Given the description of an element on the screen output the (x, y) to click on. 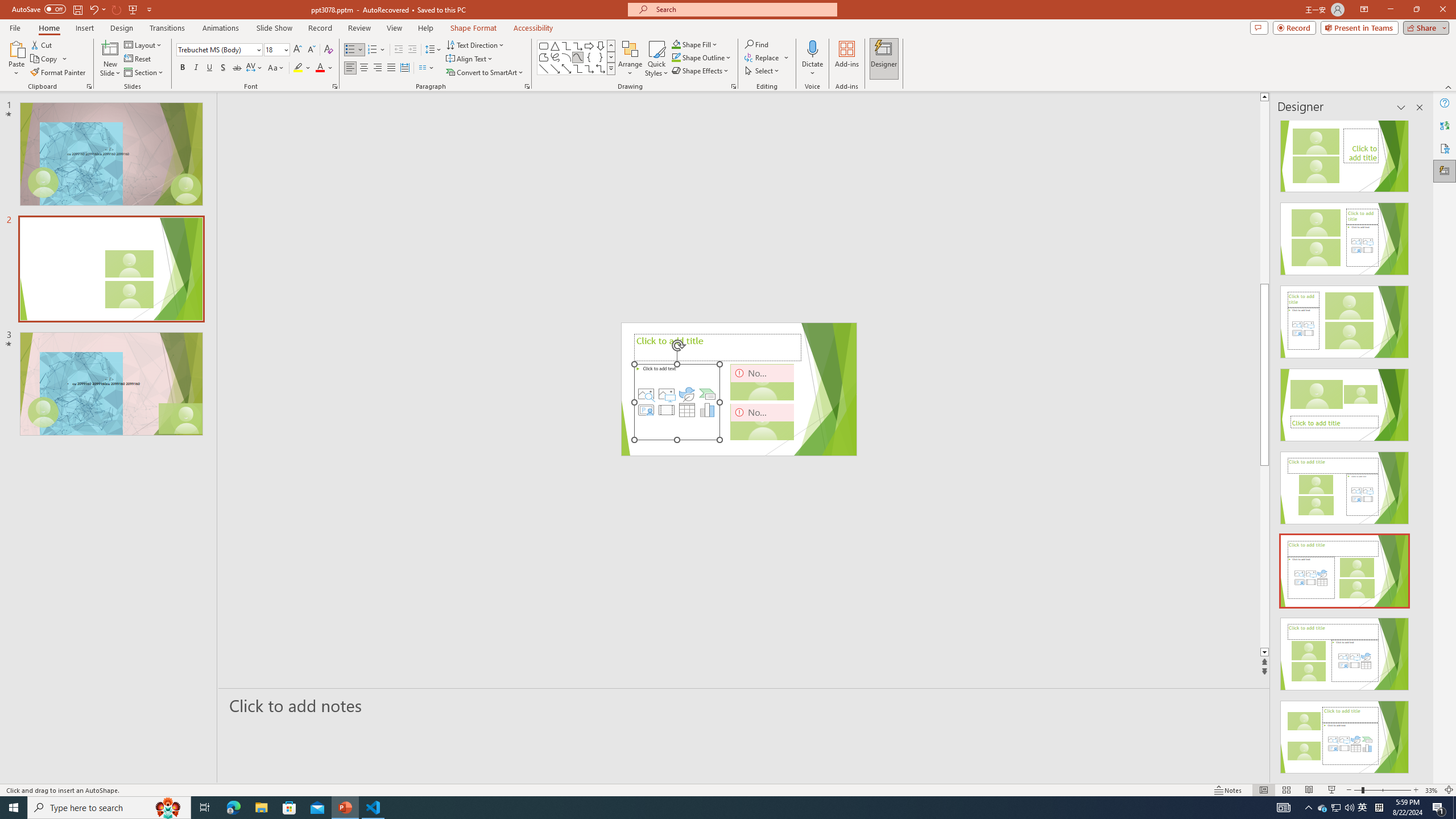
Shape Outline Green, Accent 1 (675, 56)
Insert Chart (707, 409)
Camera 3, No camera detected. (761, 421)
Content Placeholder (676, 401)
